Given the description of an element on the screen output the (x, y) to click on. 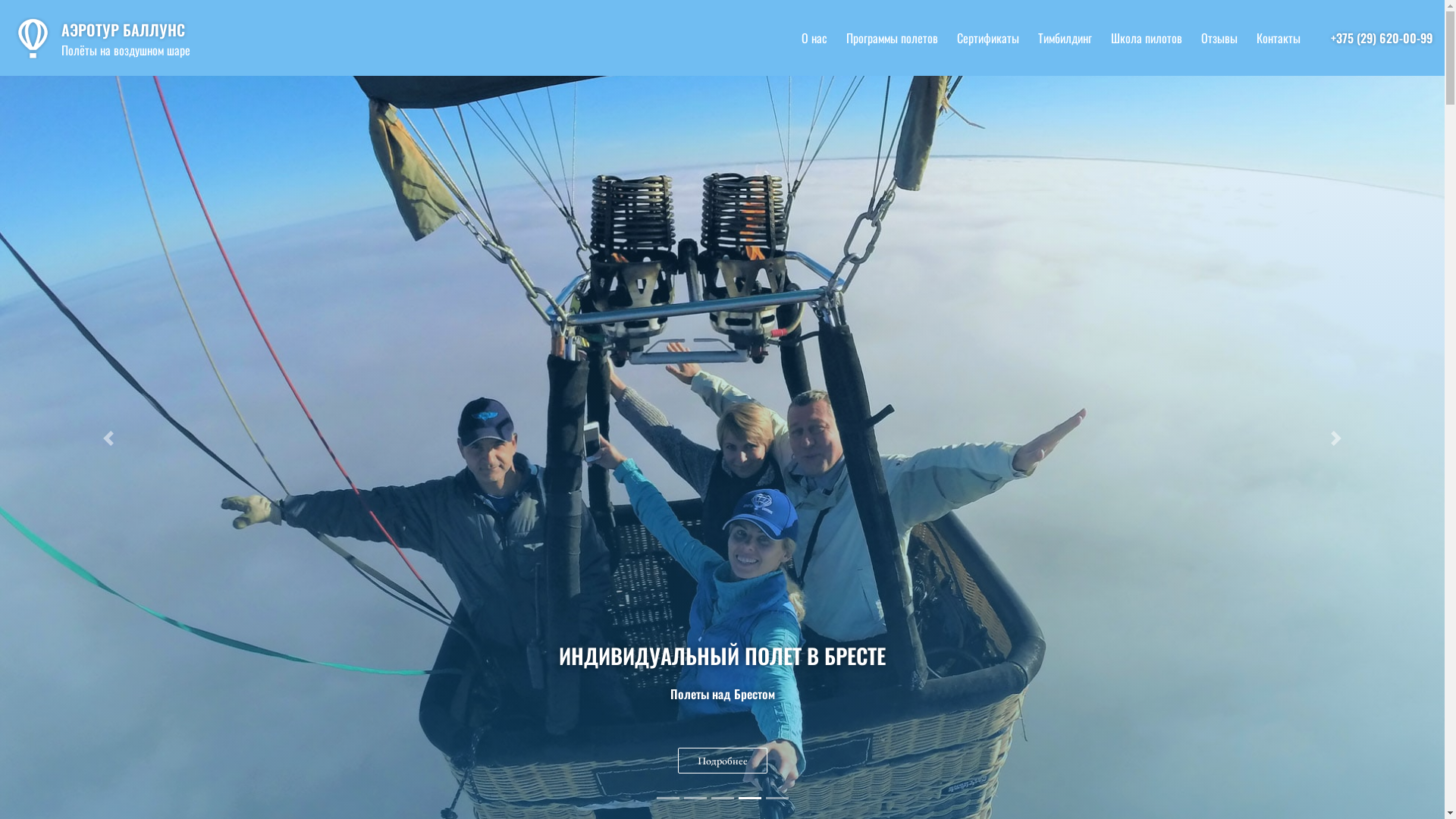
+375 (29) 620-00-99 Element type: text (1381, 37)
